Given the description of an element on the screen output the (x, y) to click on. 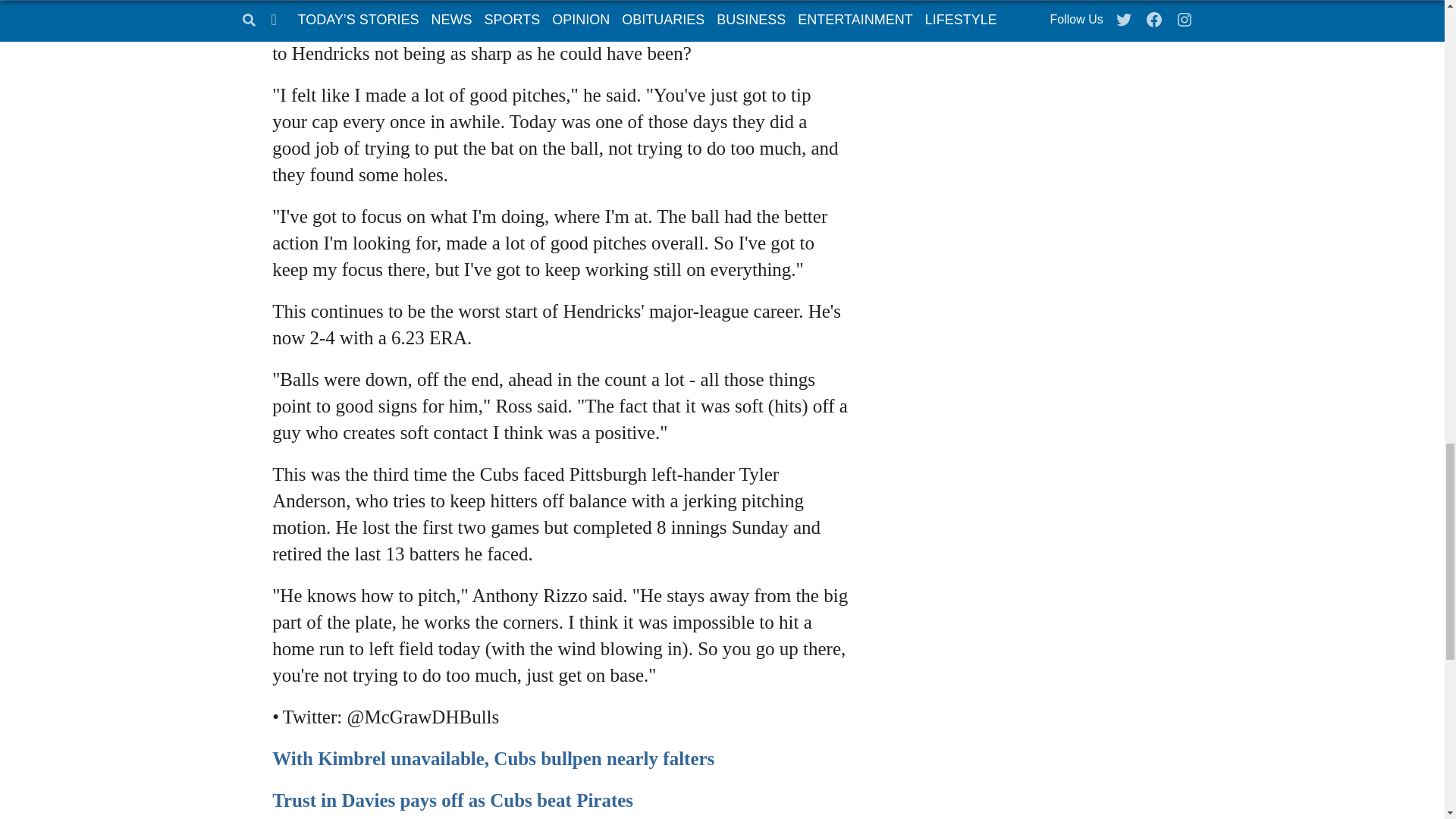
Trust in Davies pays off as Cubs beat Pirates (452, 800)
With Kimbrel unavailable, Cubs bullpen nearly falters (493, 758)
